Given the description of an element on the screen output the (x, y) to click on. 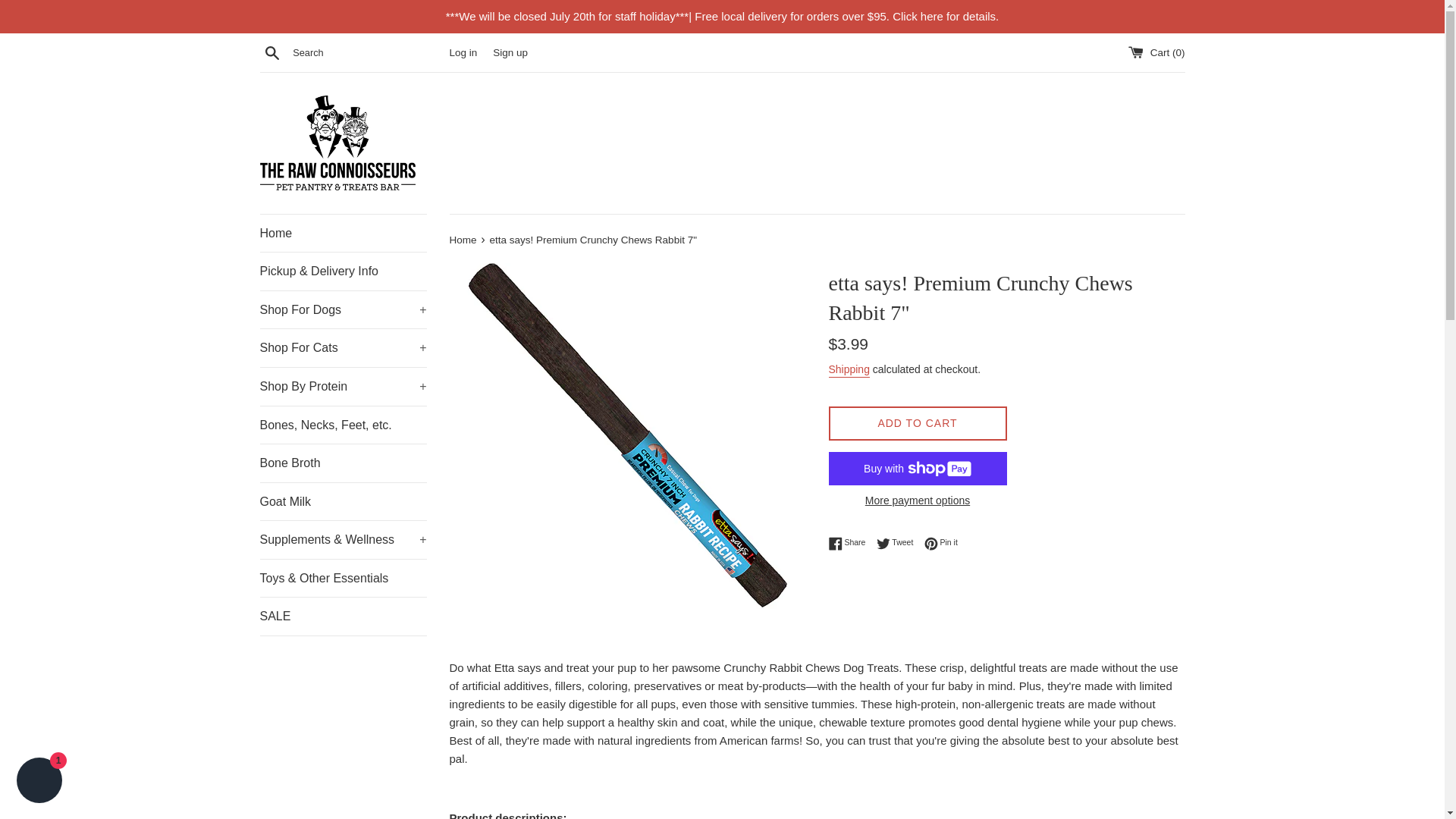
Home (342, 233)
Share on Facebook (850, 542)
Sign up (510, 52)
Pin on Pinterest (941, 542)
Shopify online store chat (38, 781)
Log in (462, 52)
Search (271, 52)
Tweet on Twitter (898, 542)
Back to the frontpage (463, 239)
